Given the description of an element on the screen output the (x, y) to click on. 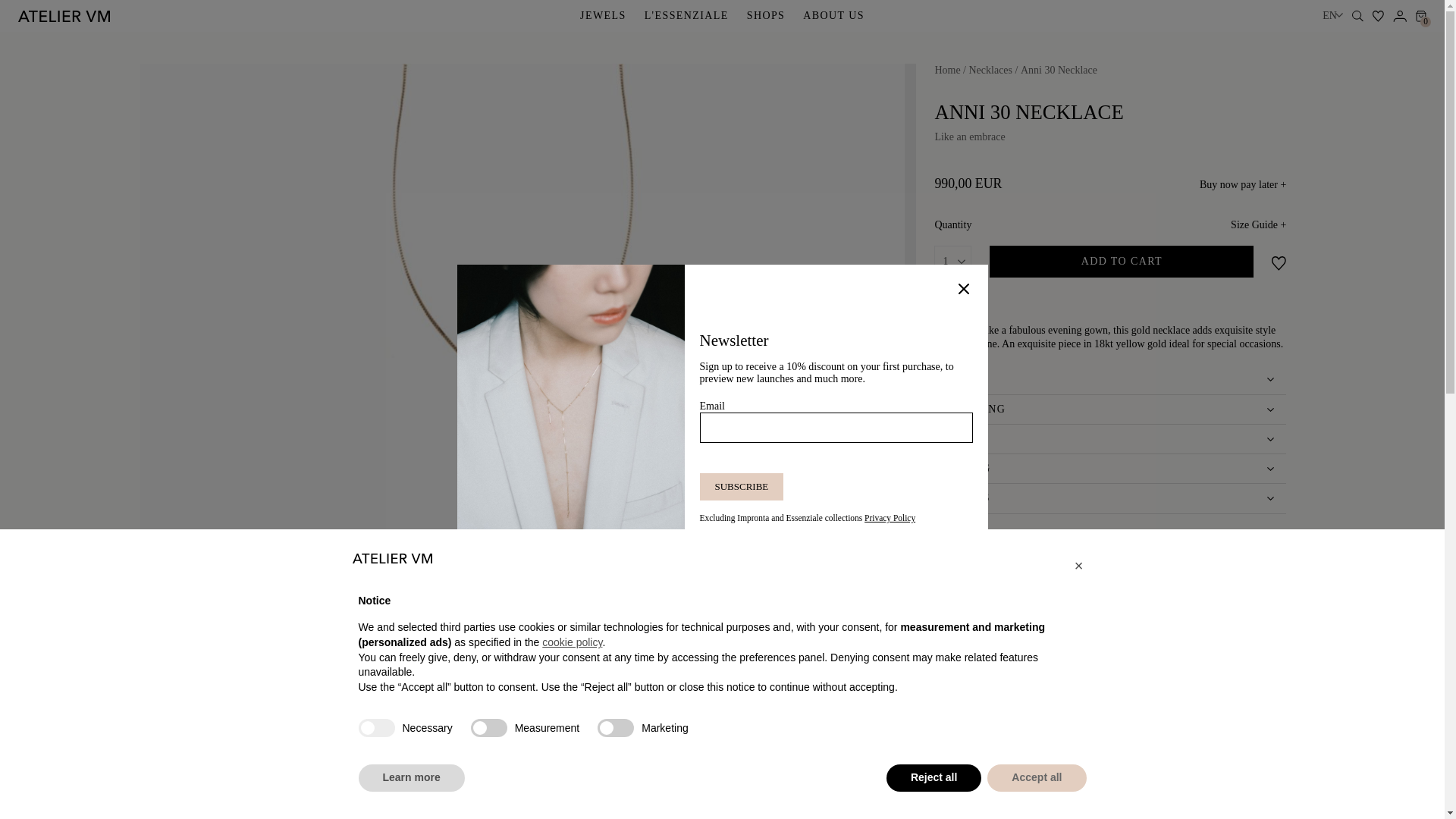
true (376, 728)
L'ESSENZIALE (687, 15)
false (488, 728)
JEWELS (602, 15)
SHOPS (766, 15)
ABOUT US (833, 15)
0 (1420, 16)
false (614, 728)
Privacy Policy (889, 517)
